Given the description of an element on the screen output the (x, y) to click on. 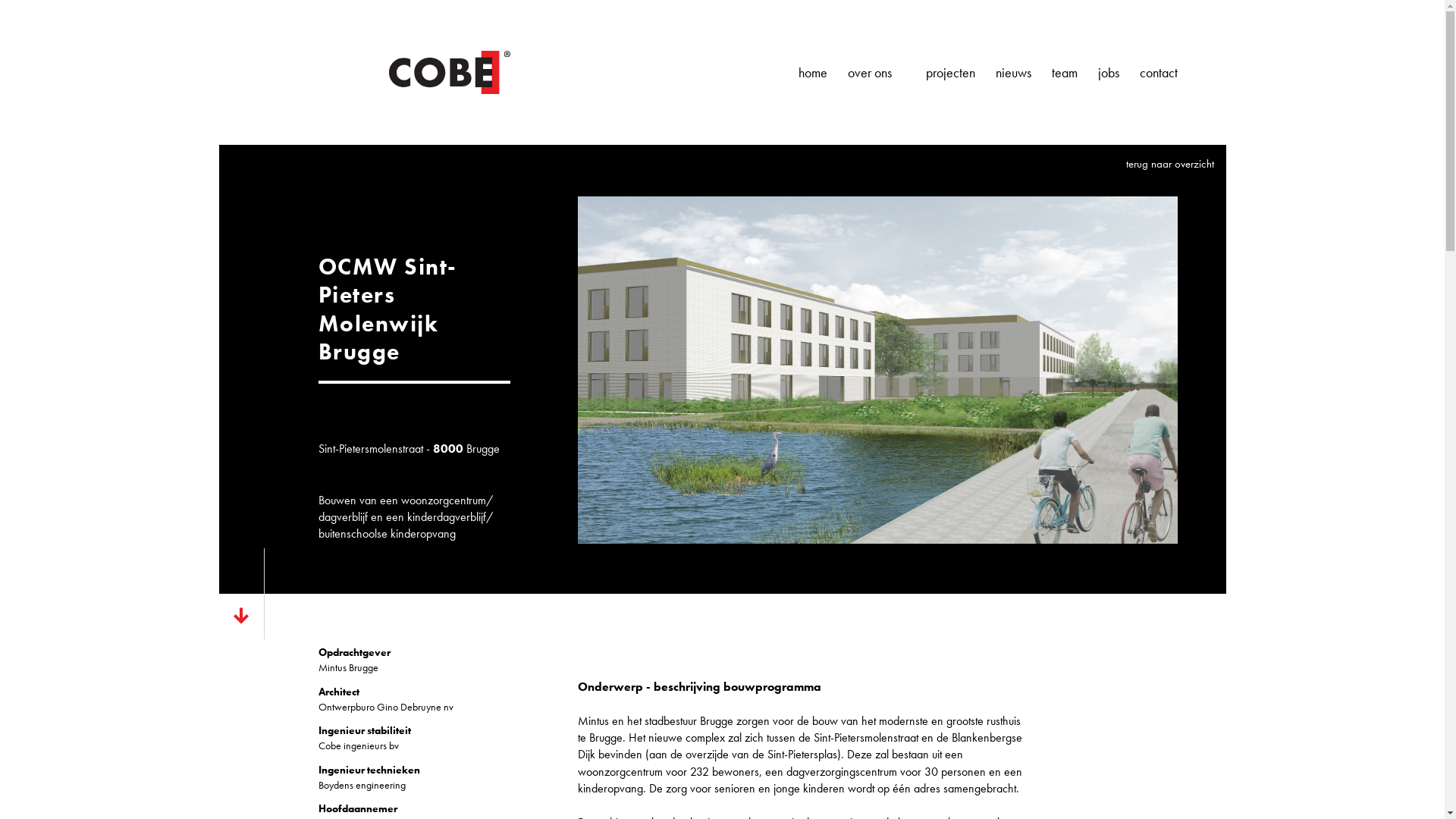
terug naar overzicht Element type: text (1161, 164)
nieuws Element type: text (1012, 72)
jobs Element type: text (1108, 72)
home Element type: text (811, 72)
team Element type: text (1063, 72)
contact Element type: text (1157, 72)
projecten Element type: text (949, 72)
